Given the description of an element on the screen output the (x, y) to click on. 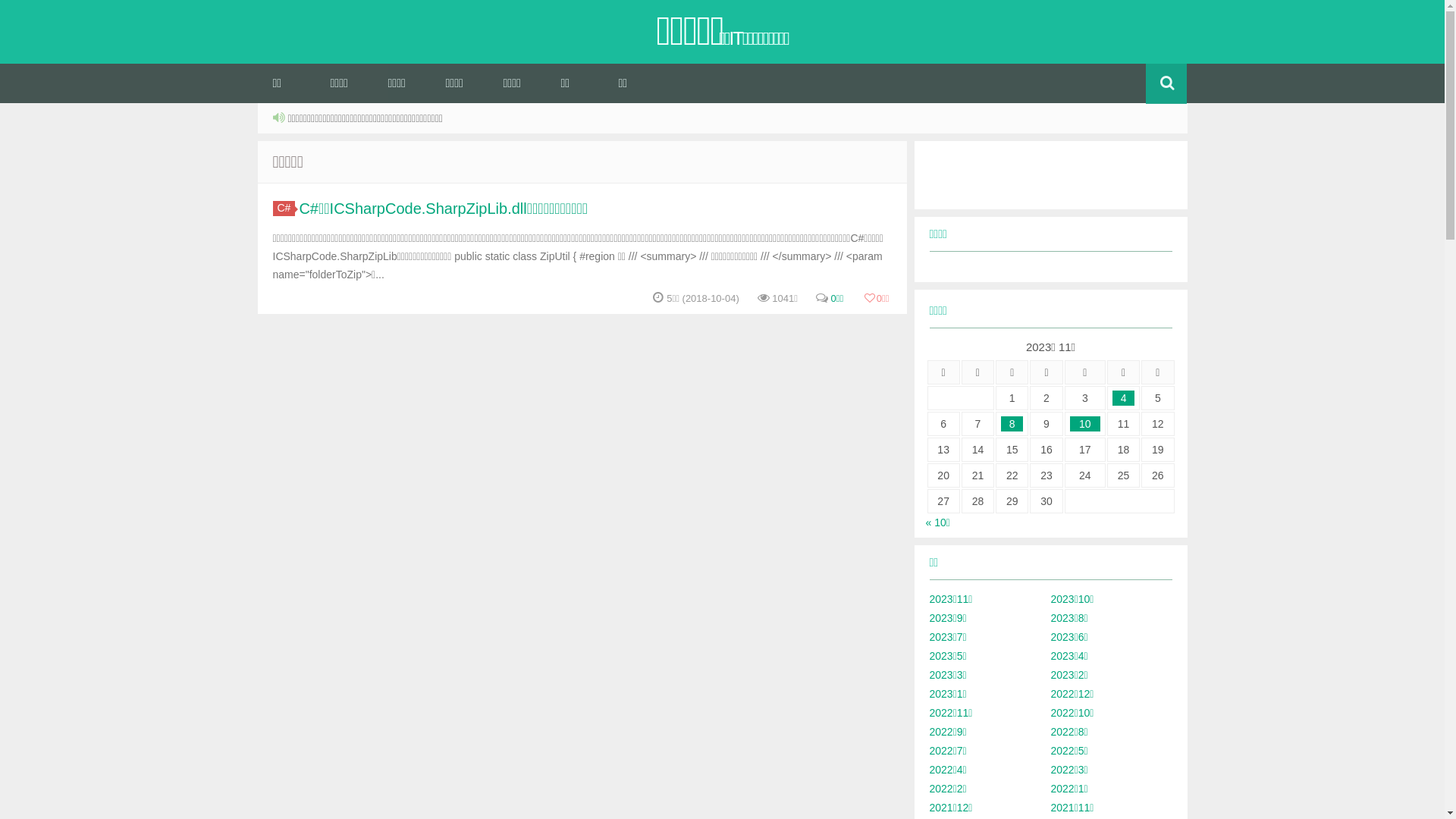
C# Element type: text (284, 208)
4 Element type: text (1123, 397)
8 Element type: text (1011, 423)
10 Element type: text (1085, 423)
